Given the description of an element on the screen output the (x, y) to click on. 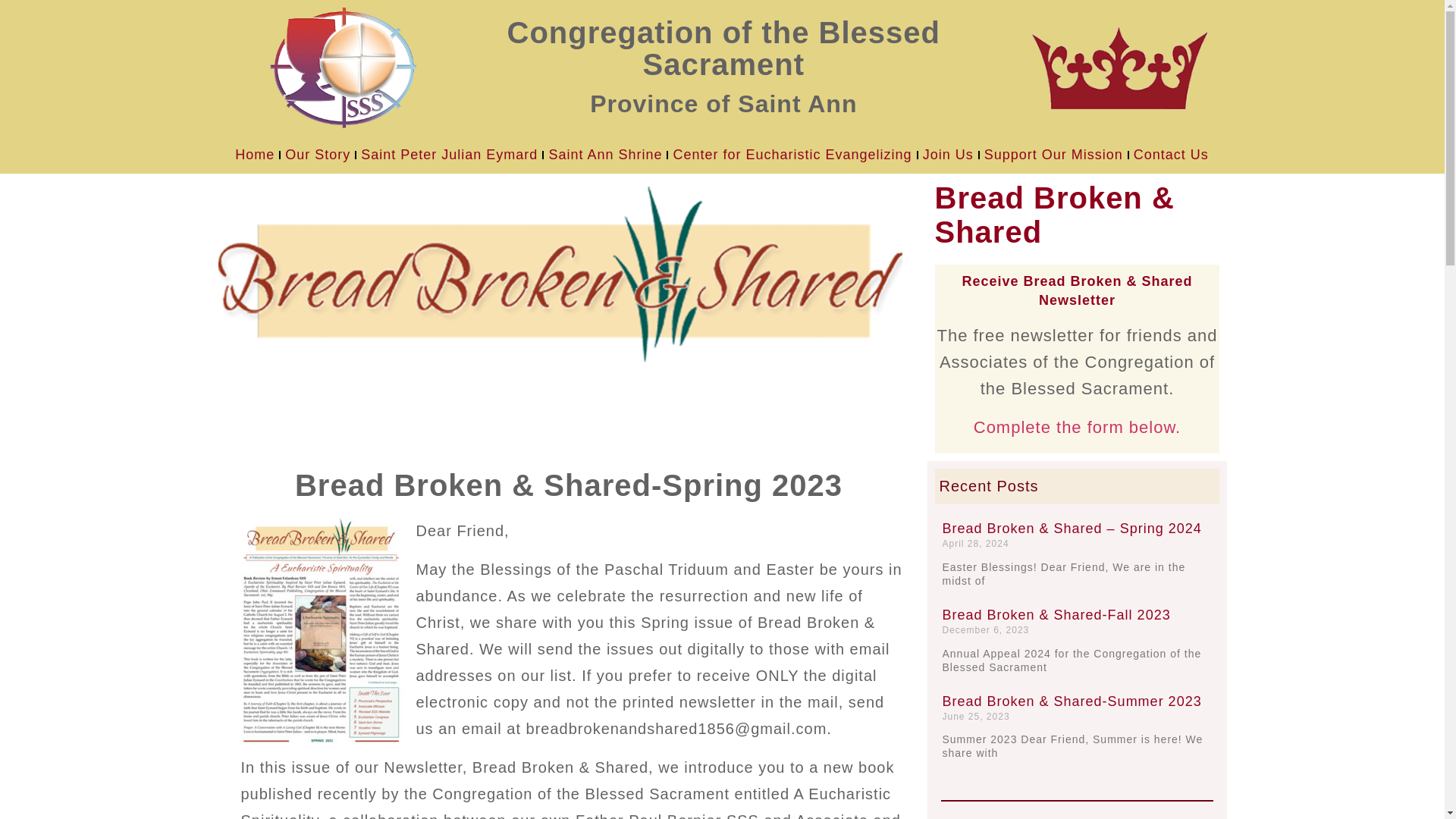
Center for Eucharistic Evangelizing (791, 154)
Saint Peter Julian Eymard (448, 154)
Our Story (318, 154)
Home (254, 154)
Saint Ann Shrine (604, 154)
